Given the description of an element on the screen output the (x, y) to click on. 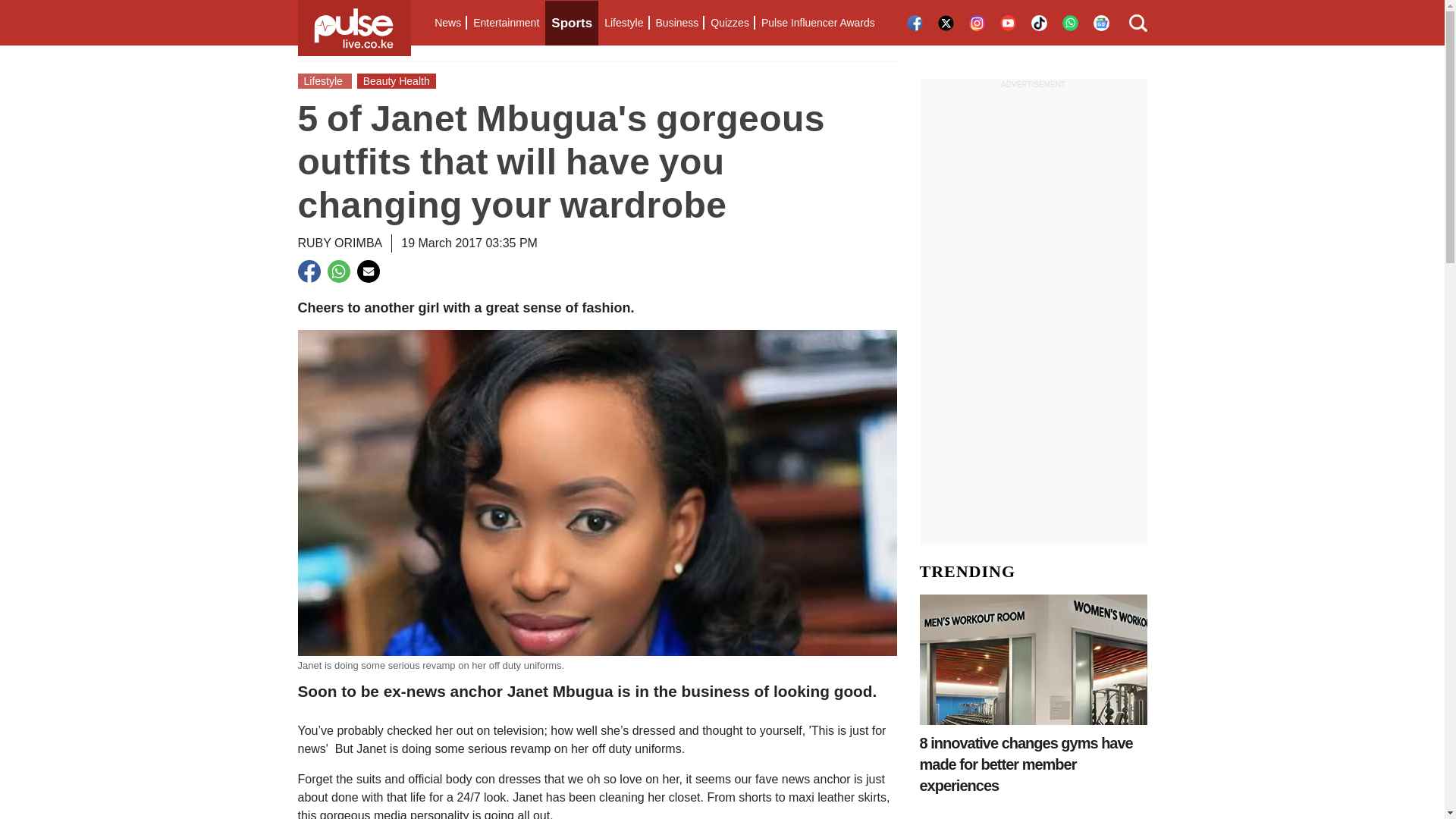
Sports (571, 22)
Business (676, 22)
Pulse Influencer Awards (817, 22)
Quizzes (729, 22)
Lifestyle (623, 22)
Entertainment (505, 22)
